Given the description of an element on the screen output the (x, y) to click on. 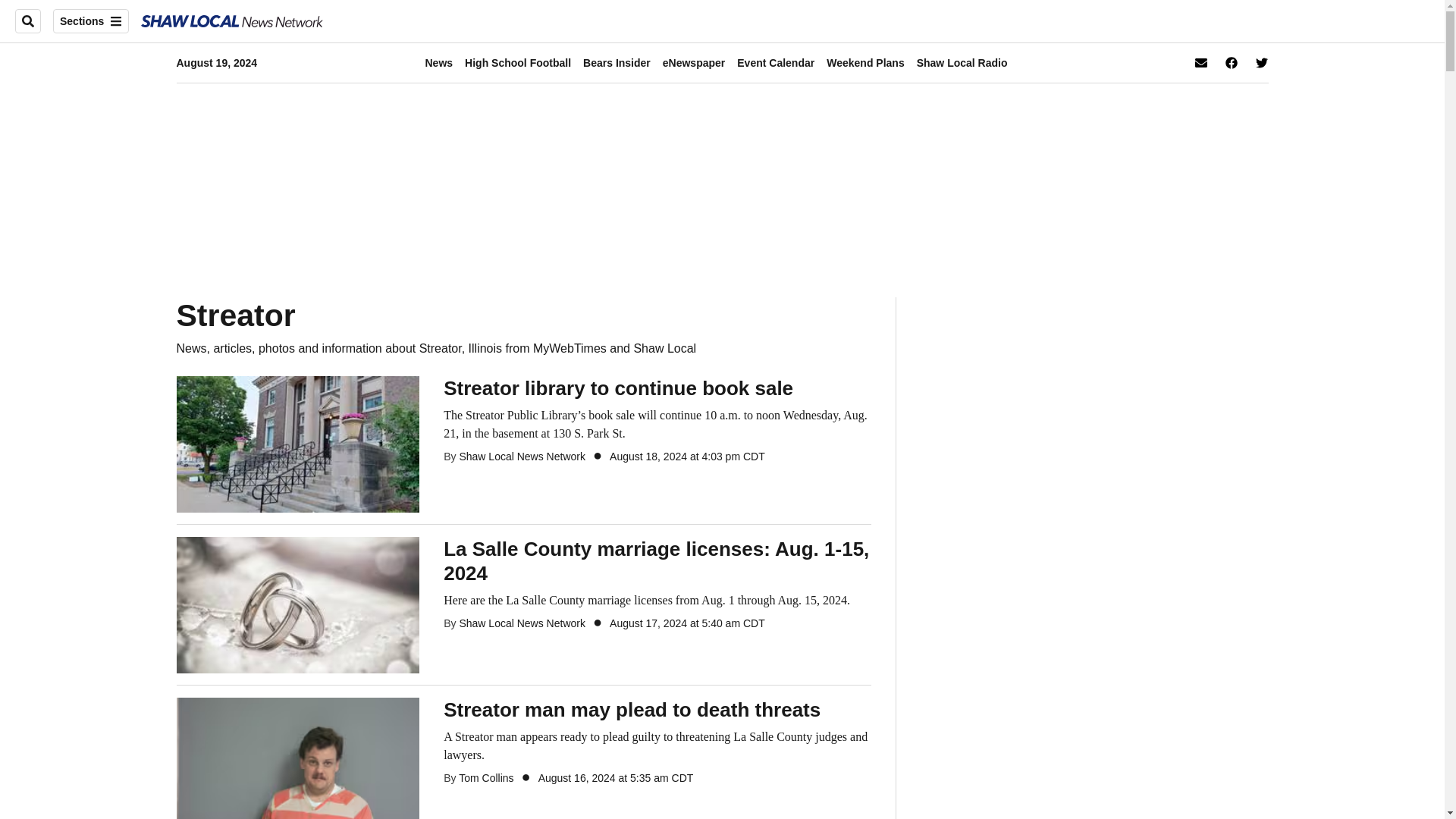
Streator library to continue book sale (657, 387)
Streator library to continue book sale (657, 424)
La Salle County marriage licenses: Aug. 1-15, 2024 (657, 600)
La Salle County marriage licenses: Aug. 1-15, 2024 (657, 561)
Streator man may plead to death threats (657, 746)
Shaw Local (232, 21)
Streator man may plead to death threats (657, 709)
Sections (90, 21)
La Salle County marriage licenses: Aug. 1-15, 2024 (297, 604)
Streator man may plead to death threats (297, 765)
